Given the description of an element on the screen output the (x, y) to click on. 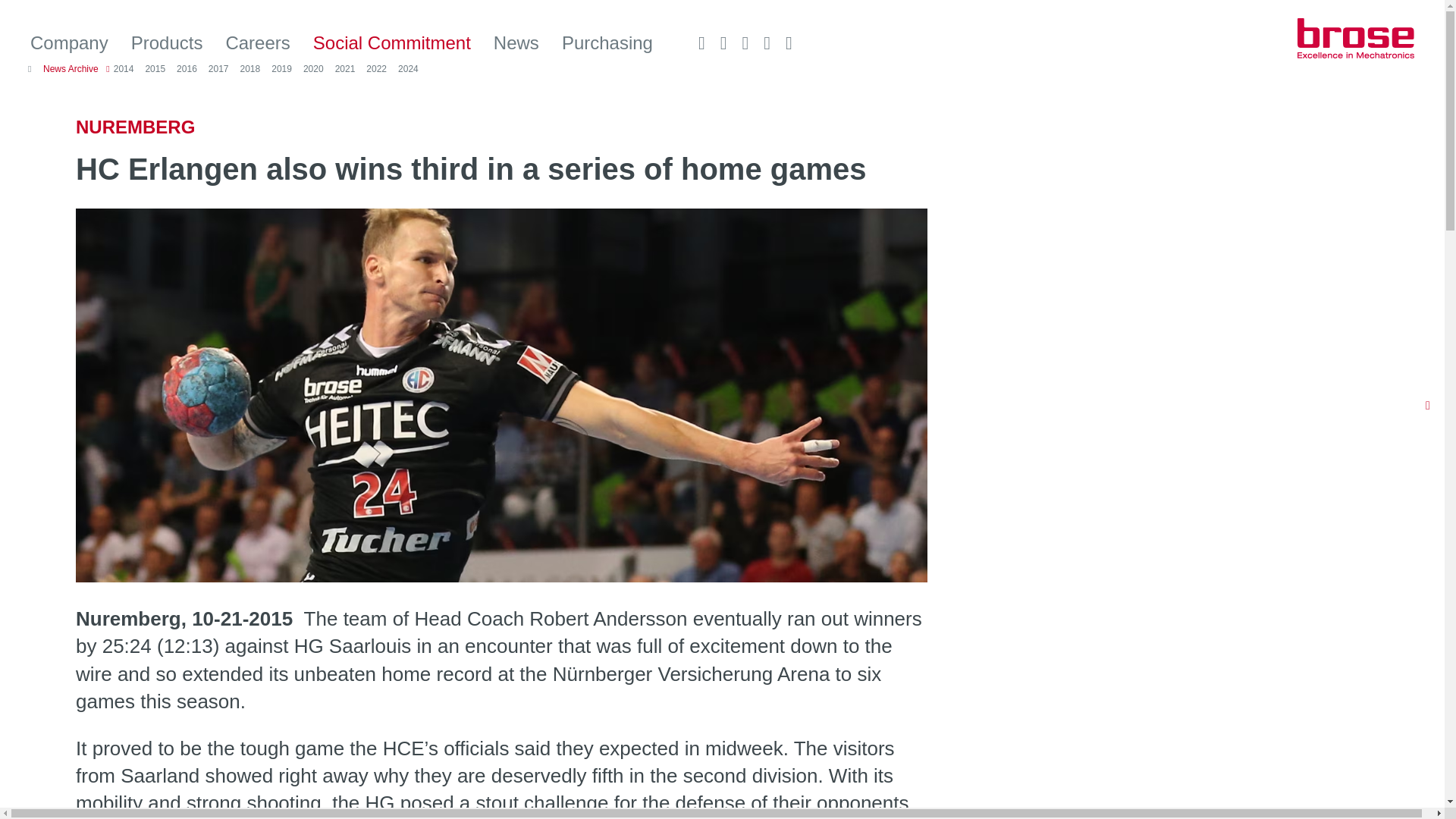
Company (68, 43)
Careers (257, 43)
Products (167, 43)
